Given the description of an element on the screen output the (x, y) to click on. 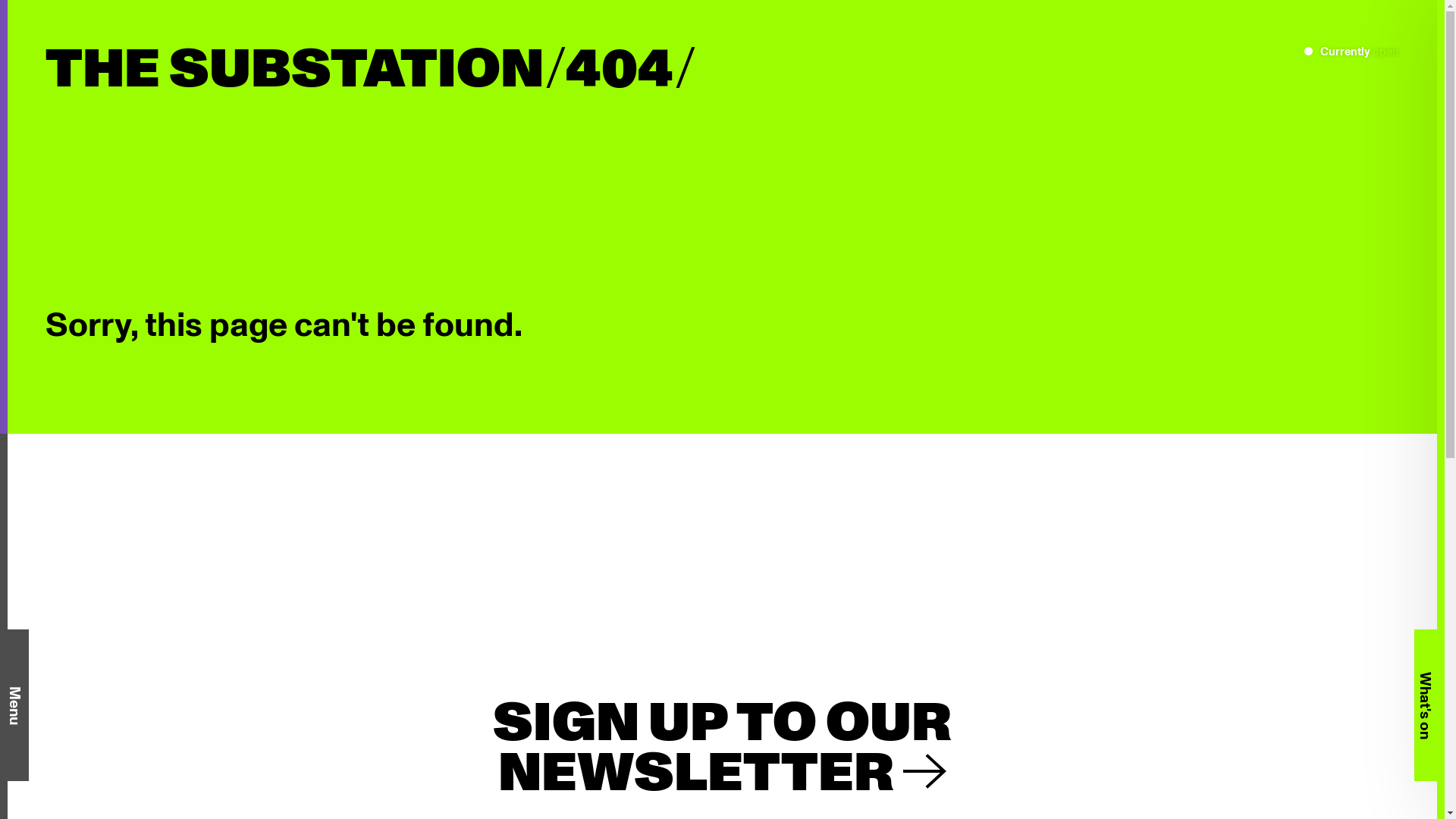
THE SUBSTATION Element type: text (294, 70)
